Given the description of an element on the screen output the (x, y) to click on. 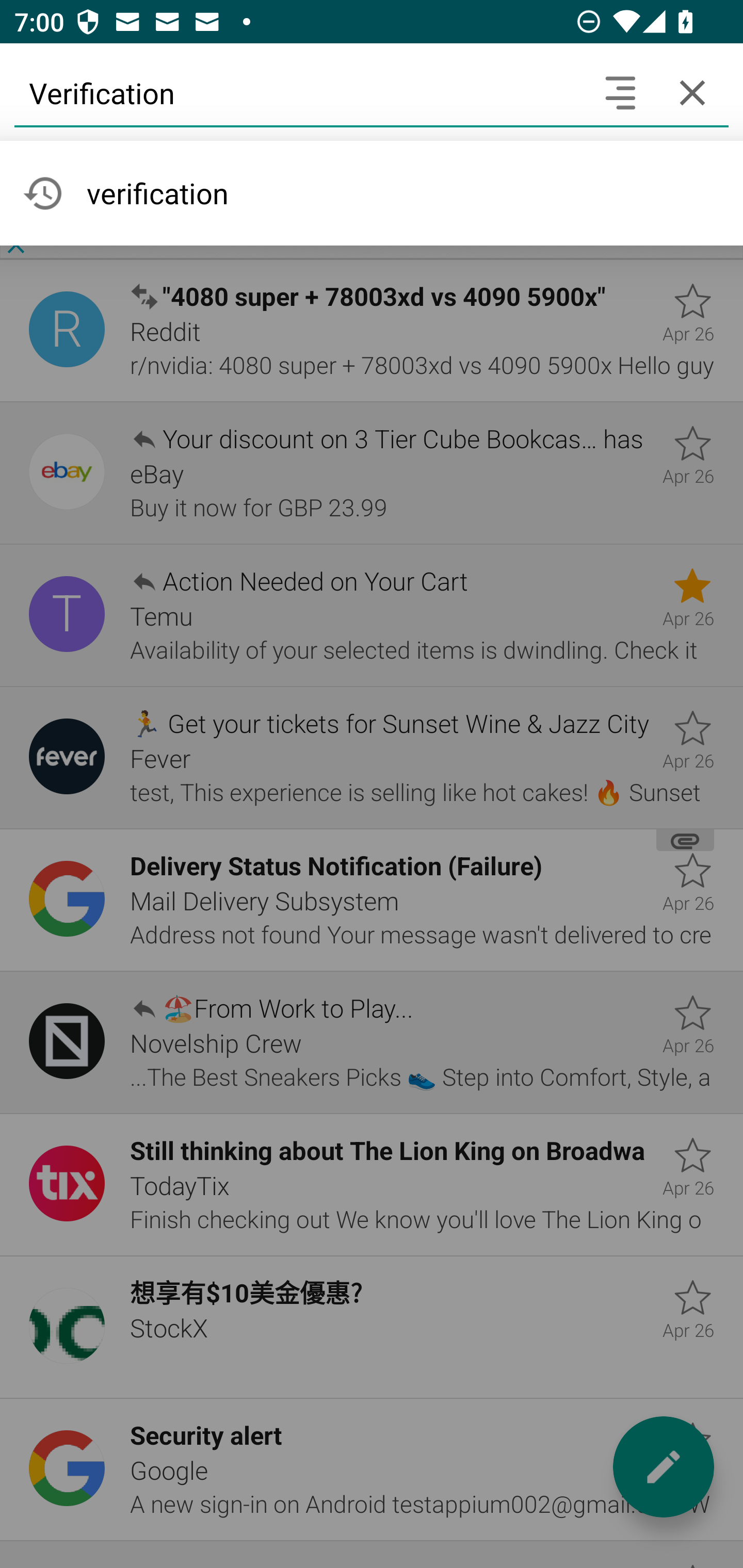
Verification (298, 92)
Search headers and text (619, 92)
Cancel (692, 92)
